Given the description of an element on the screen output the (x, y) to click on. 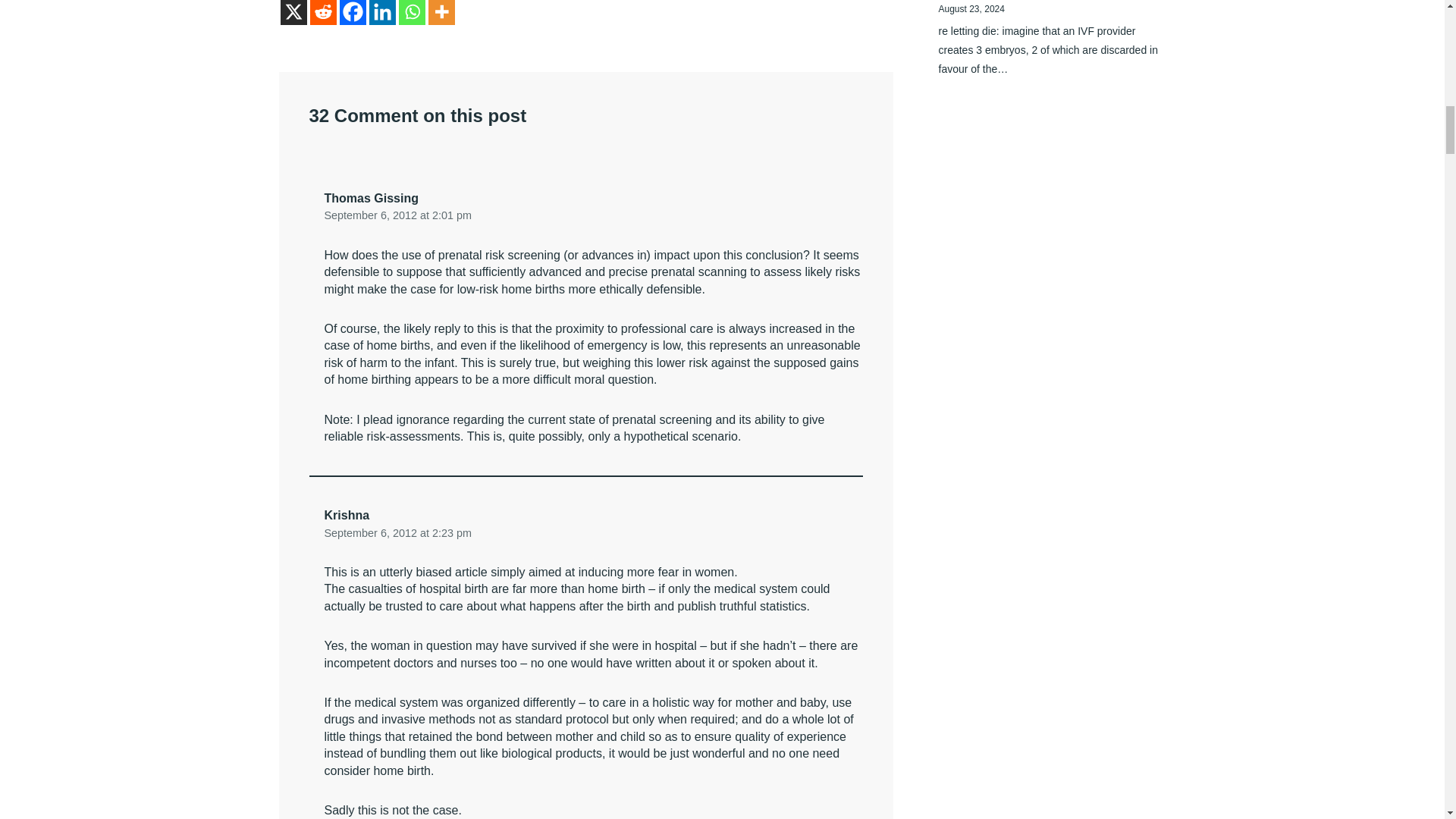
September 6, 2012 at 2:01 pm (397, 215)
X (294, 12)
Reddit (322, 12)
Facebook (352, 12)
September 6, 2012 at 2:23 pm (397, 532)
Whatsapp (411, 12)
More (441, 12)
Linkedin (381, 12)
